Given the description of an element on the screen output the (x, y) to click on. 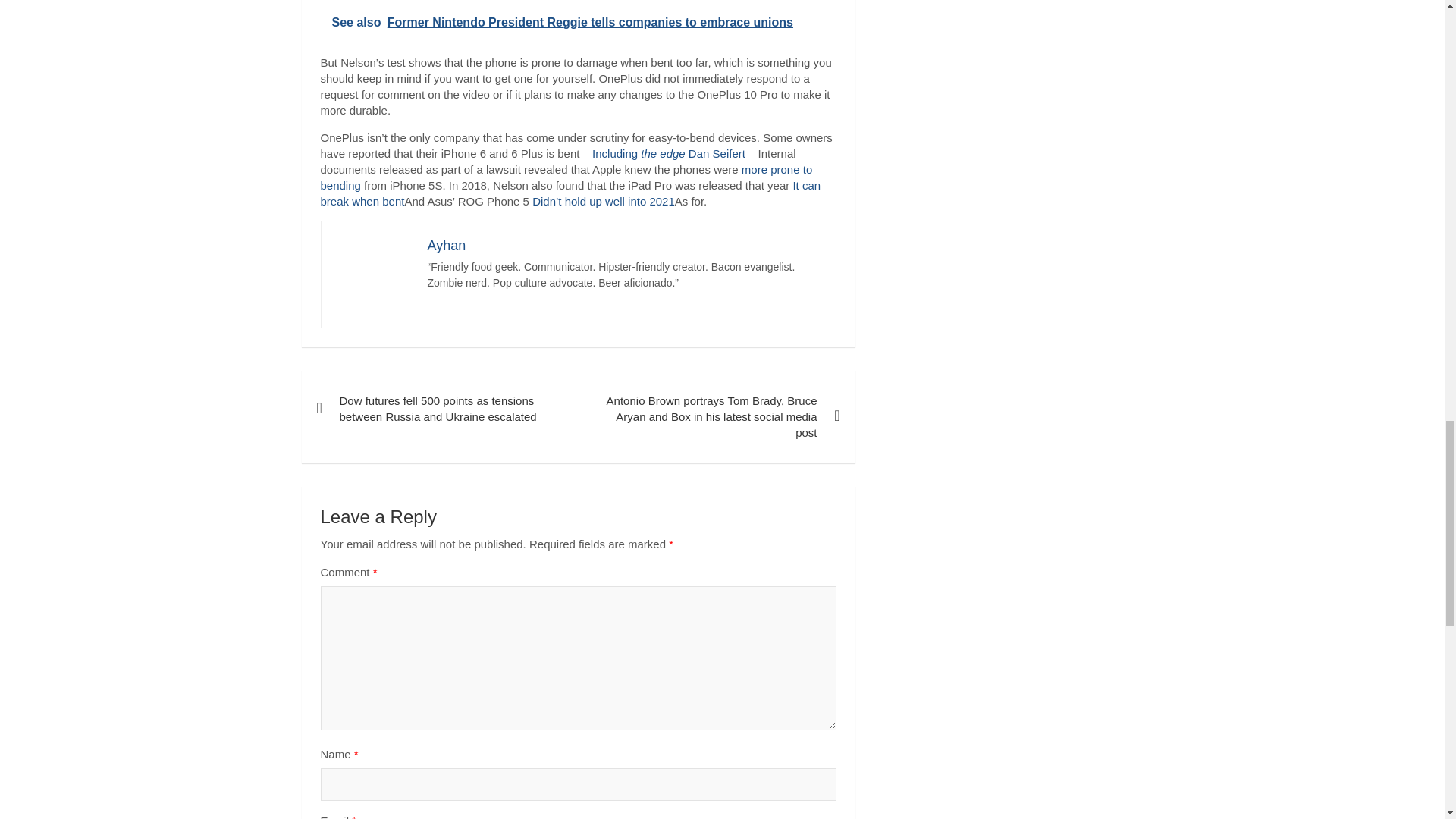
Ayhan (446, 245)
It can break when bent (570, 193)
Including the edge Dan Seifert (668, 153)
more prone to bending (566, 176)
